Given the description of an element on the screen output the (x, y) to click on. 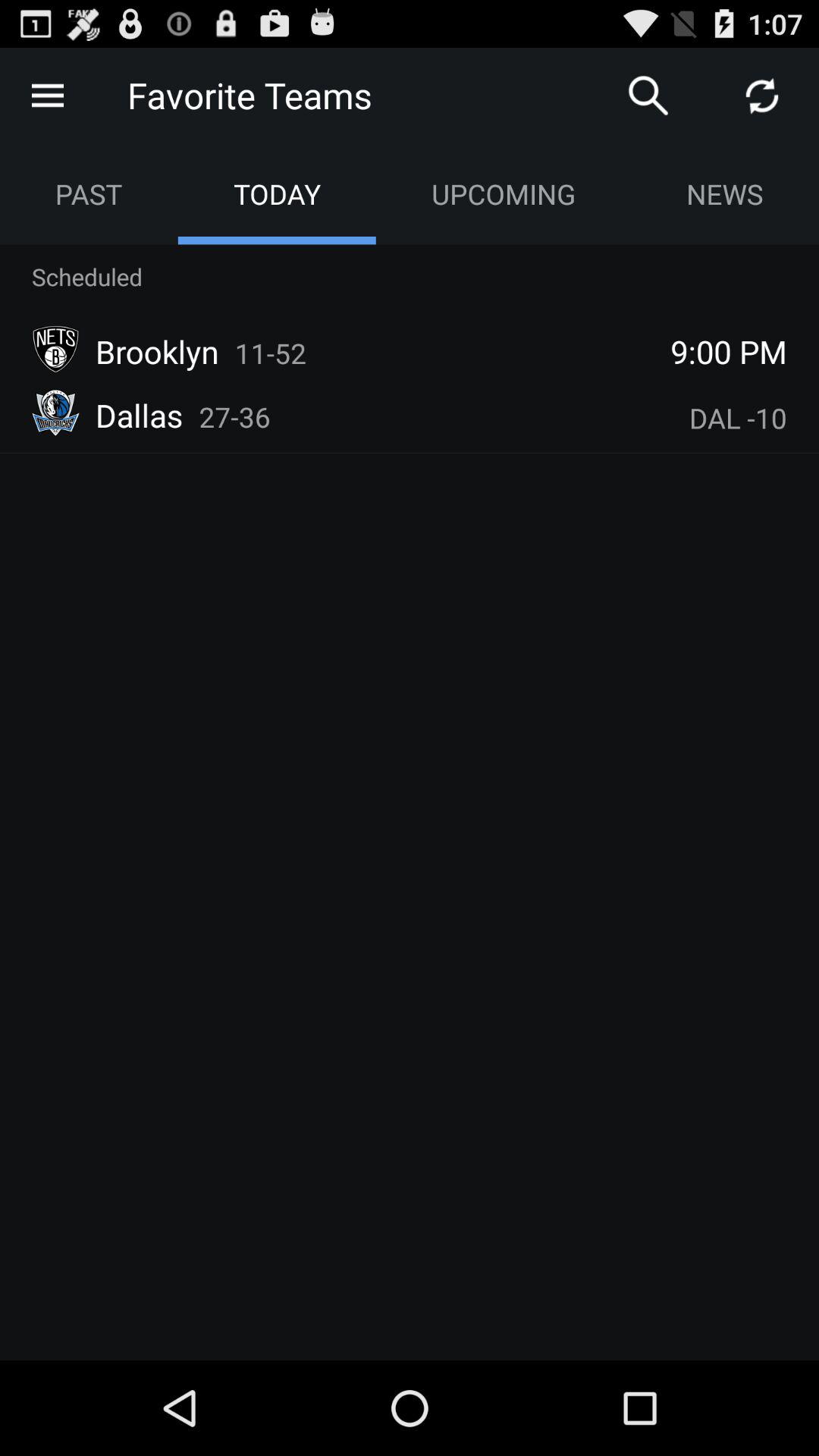
flip until news (724, 193)
